Given the description of an element on the screen output the (x, y) to click on. 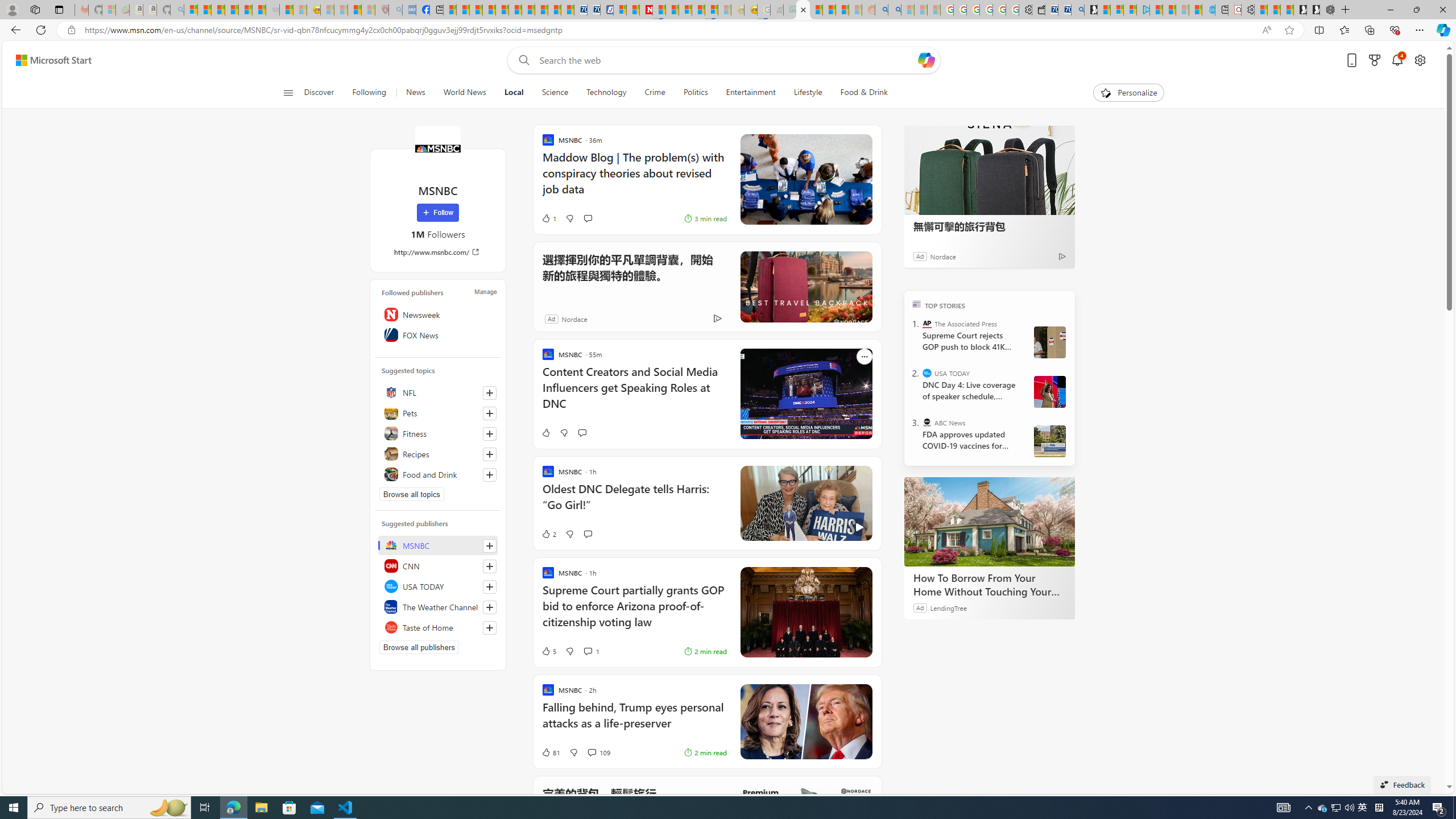
Newsweek (437, 314)
